Given the description of an element on the screen output the (x, y) to click on. 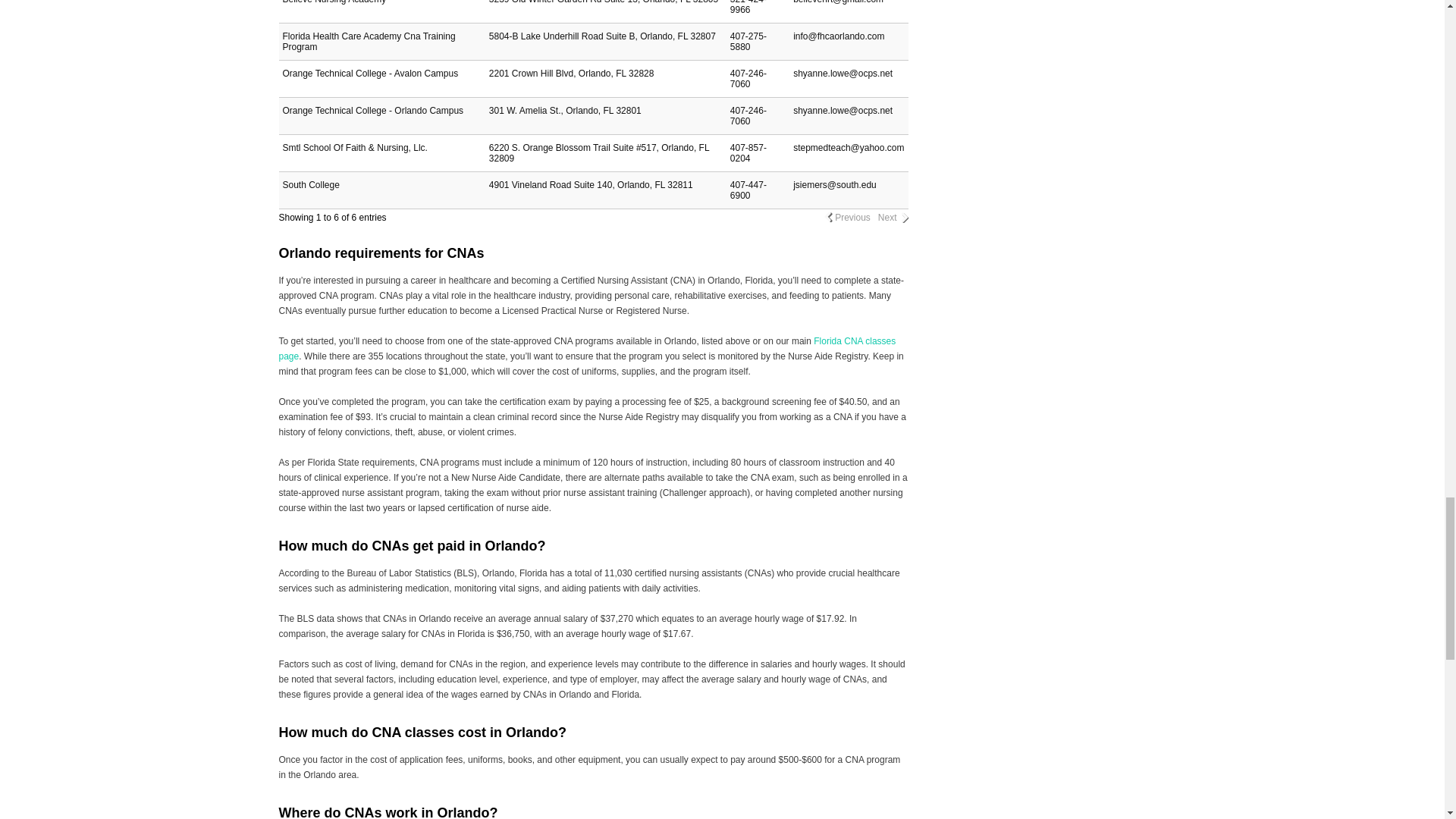
Next (886, 217)
Previous (852, 217)
Florida CNA classes page (587, 348)
